Given the description of an element on the screen output the (x, y) to click on. 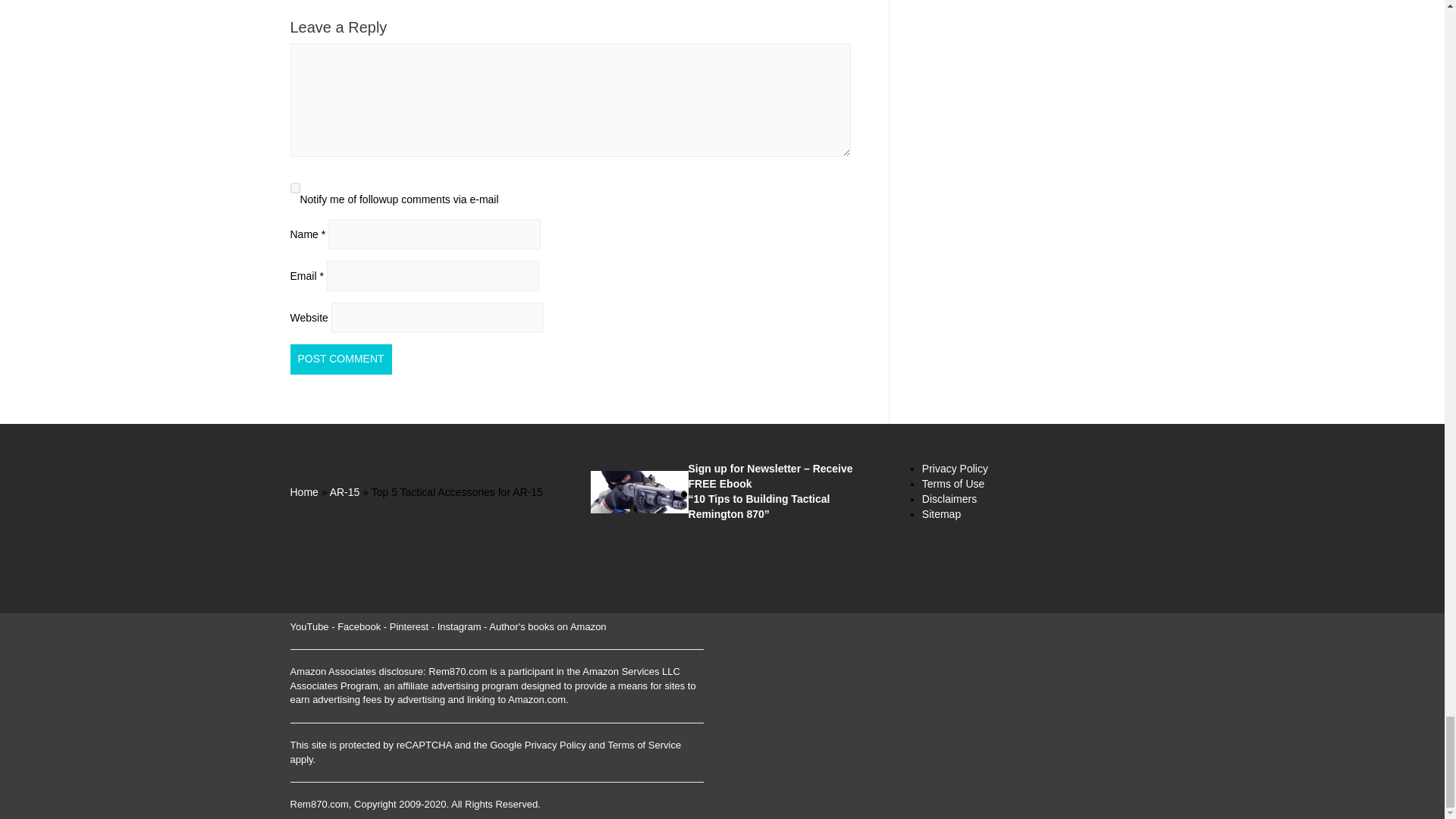
AR-15 (344, 491)
Home (303, 491)
Post Comment (340, 358)
